Given the description of an element on the screen output the (x, y) to click on. 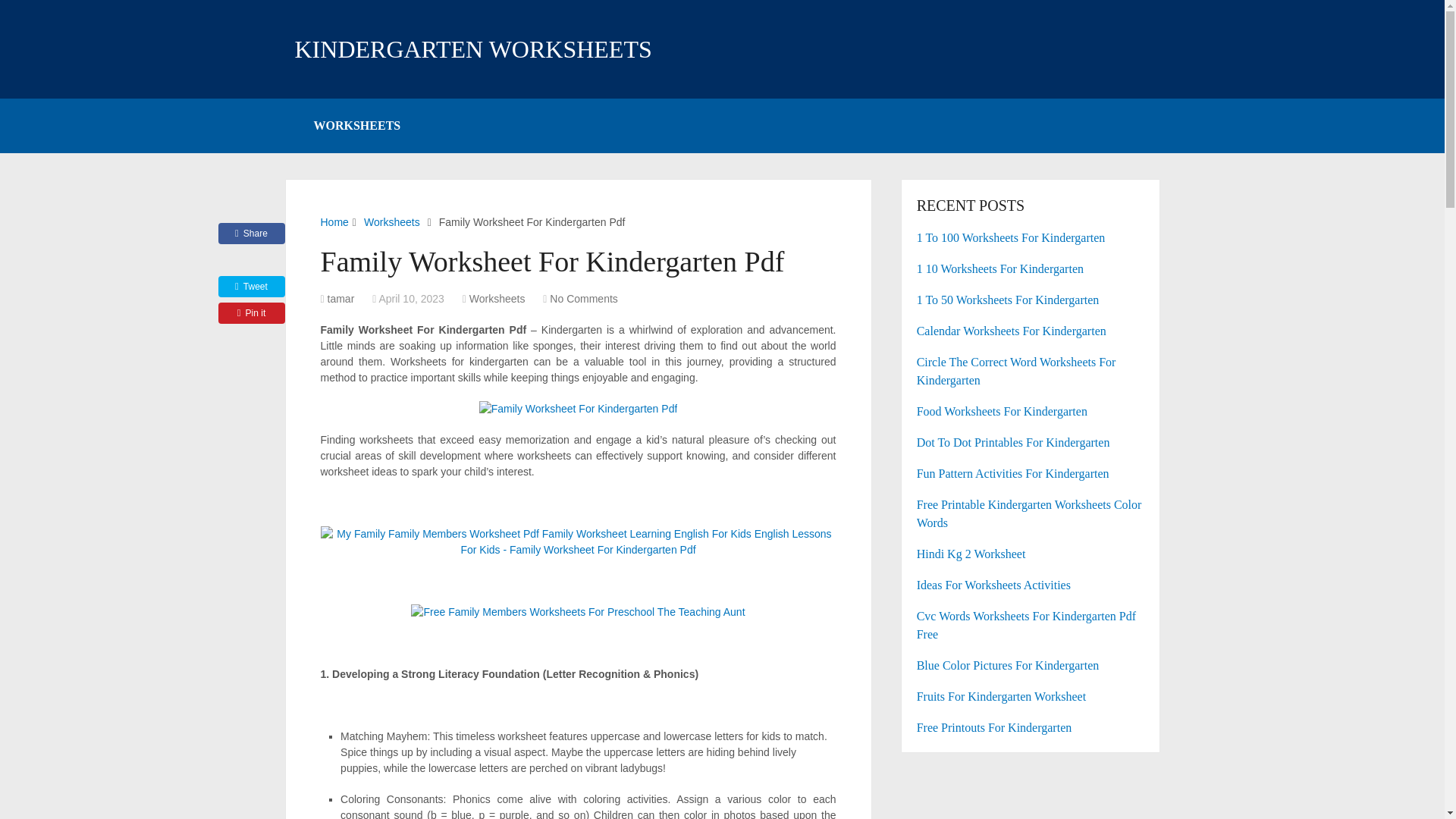
Ideas For Worksheets Activities (1030, 585)
KINDERGARTEN WORKSHEETS (472, 48)
View all posts in Worksheets (496, 298)
Free Printouts For Kindergarten (1030, 728)
WORKSHEETS (356, 125)
Circle The Correct Word Worksheets For Kindergarten (1030, 370)
Family Worksheet For Kindergarten Pdf (578, 408)
Pin it (251, 312)
tamar (341, 298)
Cvc Words Worksheets For Kindergarten Pdf Free (1030, 625)
1 10 Worksheets For Kindergarten (1030, 269)
Hindi Kg 2 Worksheet (1030, 554)
Tweet (251, 286)
1 To 50 Worksheets For Kindergarten (1030, 300)
